Given the description of an element on the screen output the (x, y) to click on. 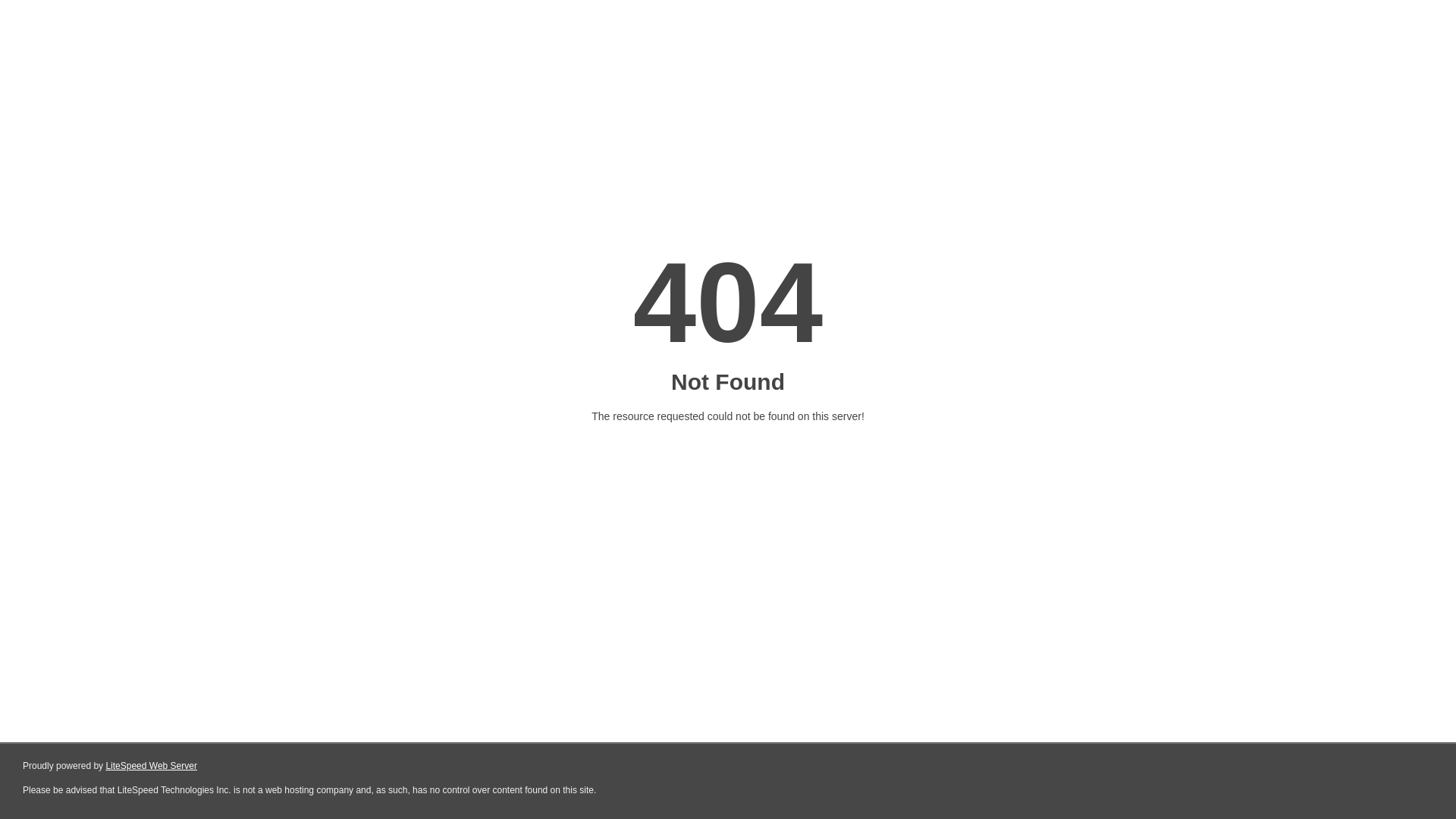
LiteSpeed Web Server Element type: text (151, 765)
